Given the description of an element on the screen output the (x, y) to click on. 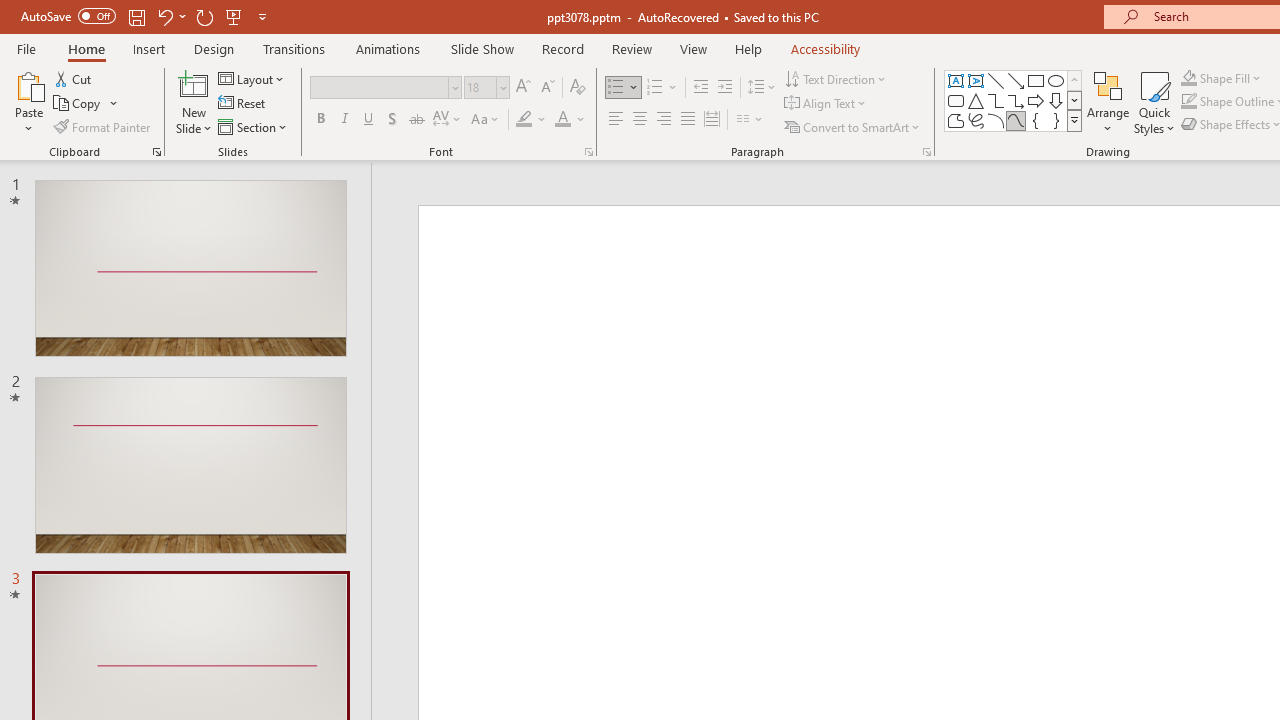
Shape Outline Green, Accent 1 (1188, 101)
